Given the description of an element on the screen output the (x, y) to click on. 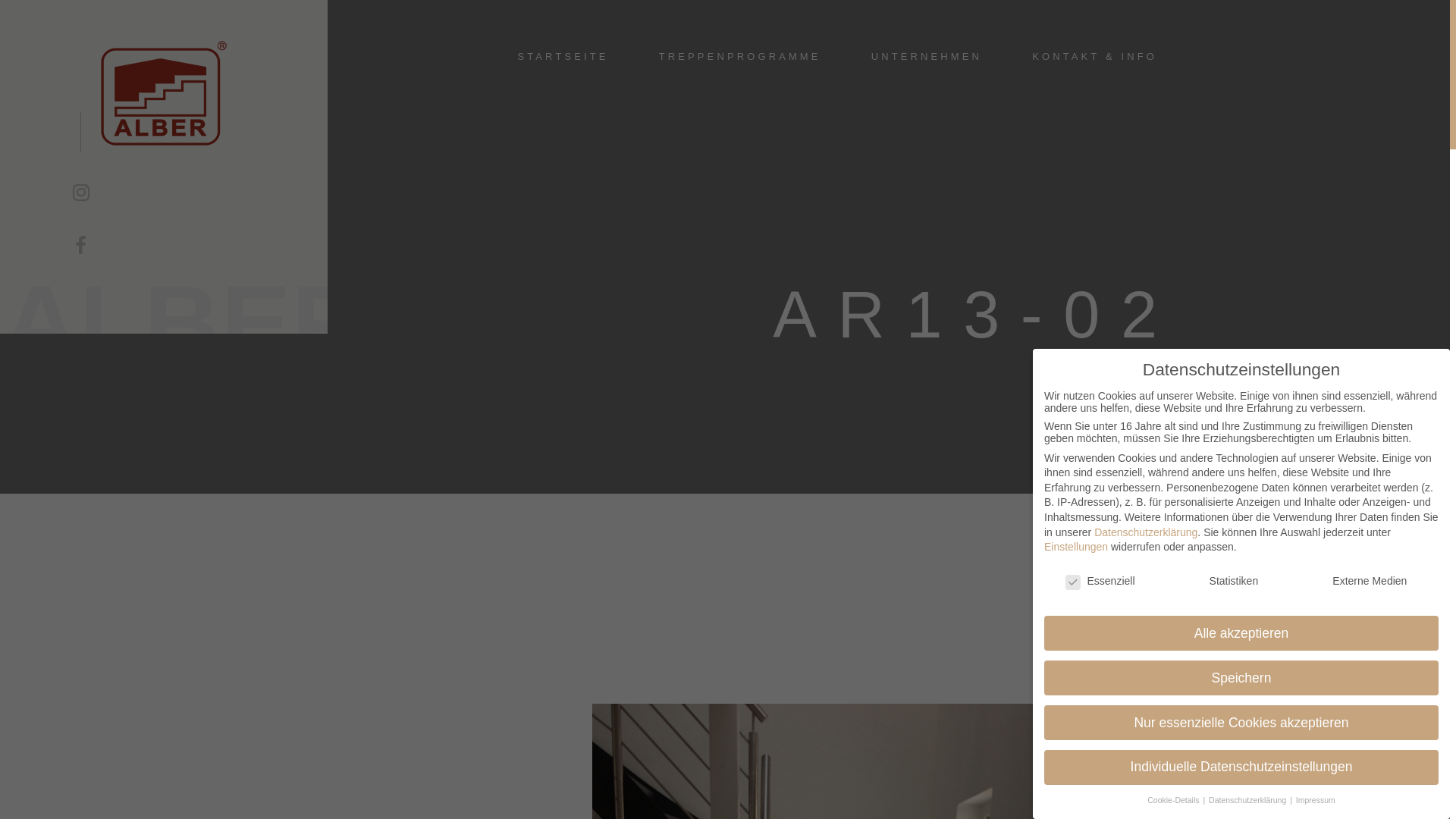
Cookie-Details Element type: text (1174, 799)
UNTERNEHMEN Element type: text (926, 56)
Nur essenzielle Cookies akzeptieren Element type: text (1241, 722)
Alle akzeptieren Element type: text (1241, 632)
STARTSEITE Element type: text (562, 56)
Impressum Element type: text (1315, 799)
Individuelle Datenschutzeinstellungen Element type: text (1241, 766)
Einstellungen Element type: text (1075, 546)
Speichern Element type: text (1241, 677)
KONTAKT & INFO Element type: text (1094, 56)
TREPPENPROGRAMME Element type: text (739, 56)
